Given the description of an element on the screen output the (x, y) to click on. 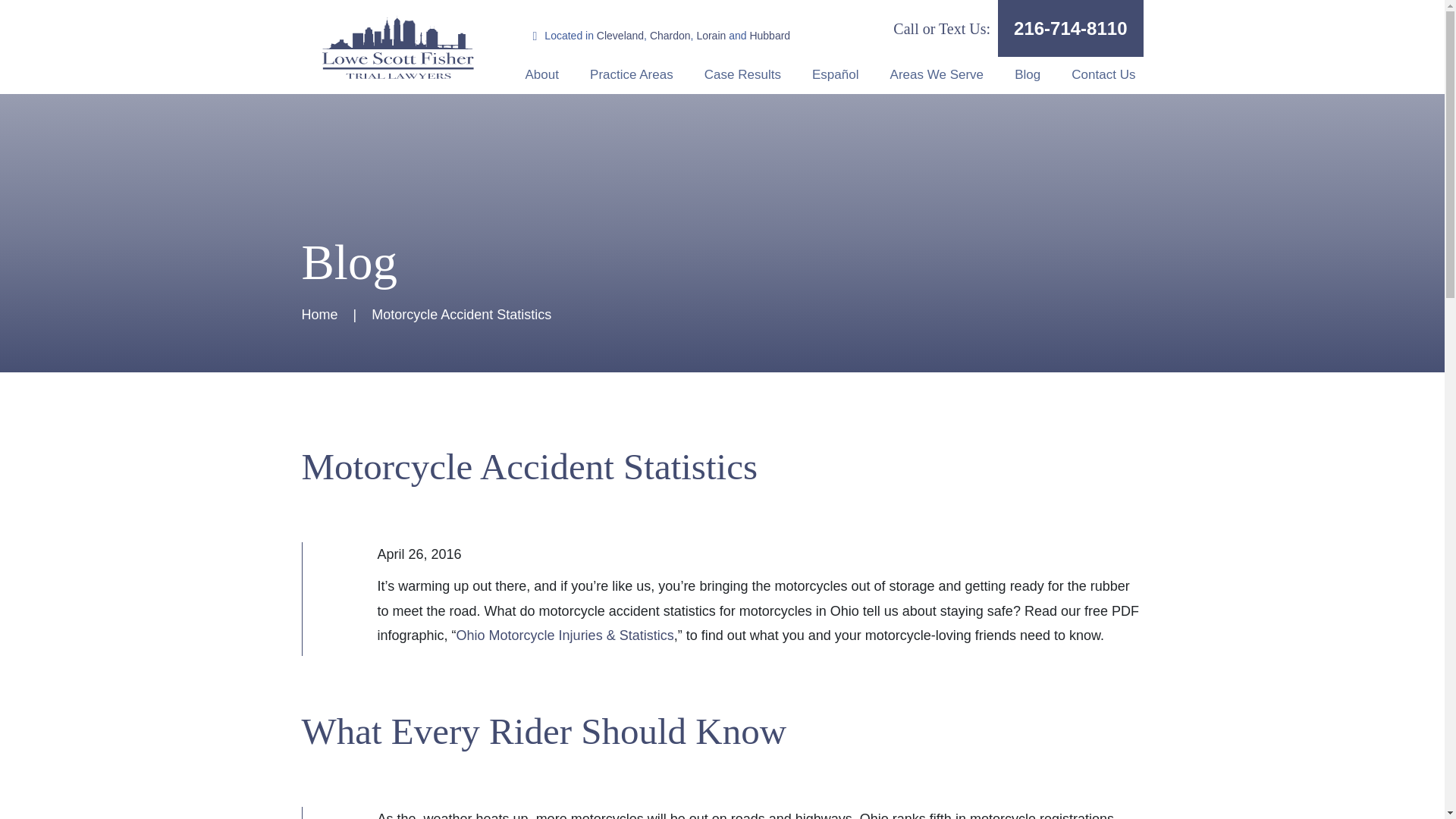
Practice Areas (631, 74)
Lowe Scott Fisher Co., LPA (397, 46)
About (541, 74)
Cleveland Office (619, 35)
Hubbard (769, 35)
Chardon Office (669, 35)
Chardon Office (710, 35)
Call Us! (1069, 28)
Lorain (710, 35)
Hubbard Office (769, 35)
Cleveland (619, 35)
216-714-8110 (1069, 28)
Chardon (669, 35)
